Given the description of an element on the screen output the (x, y) to click on. 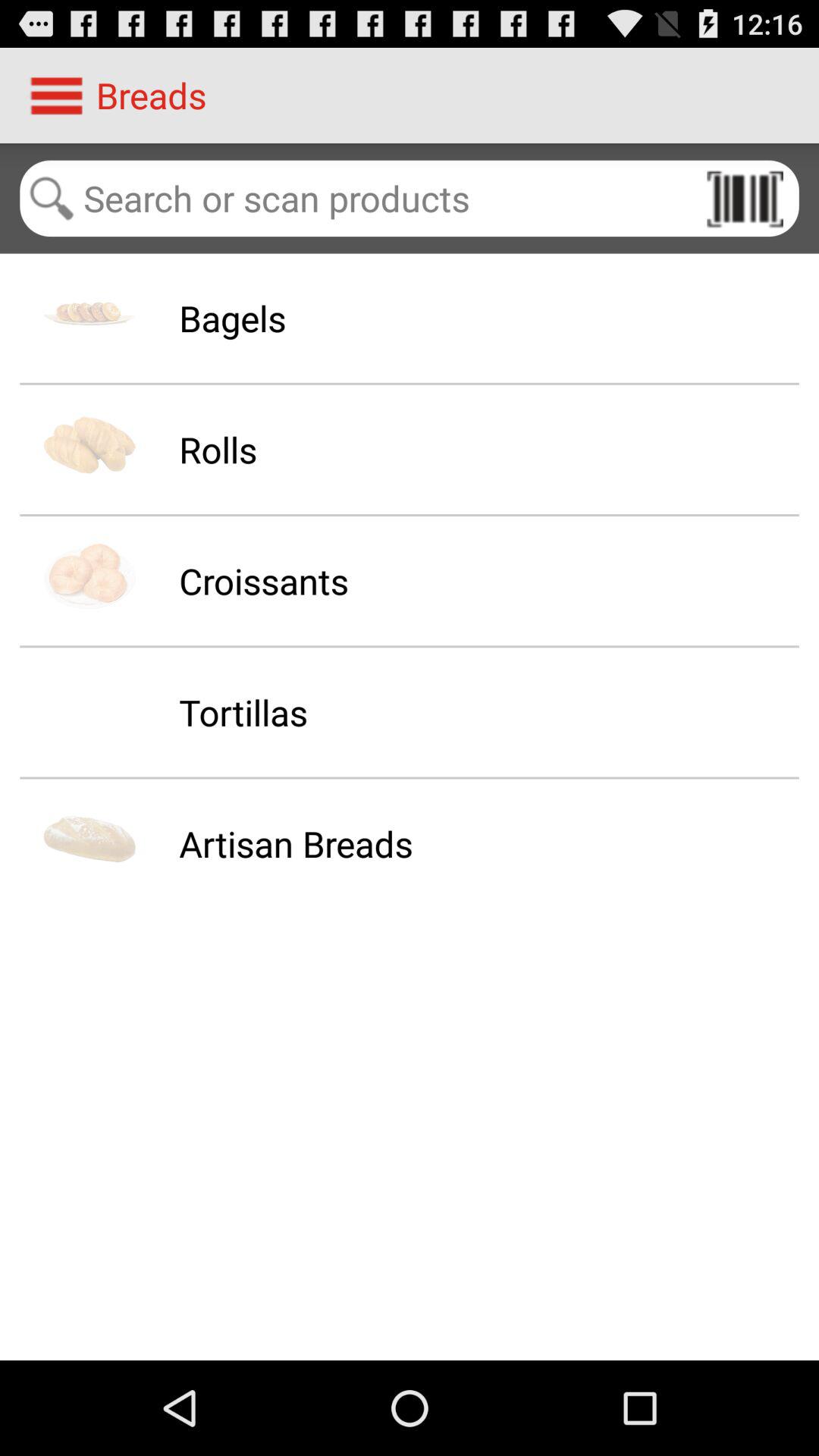
jump to the rolls item (218, 449)
